Given the description of an element on the screen output the (x, y) to click on. 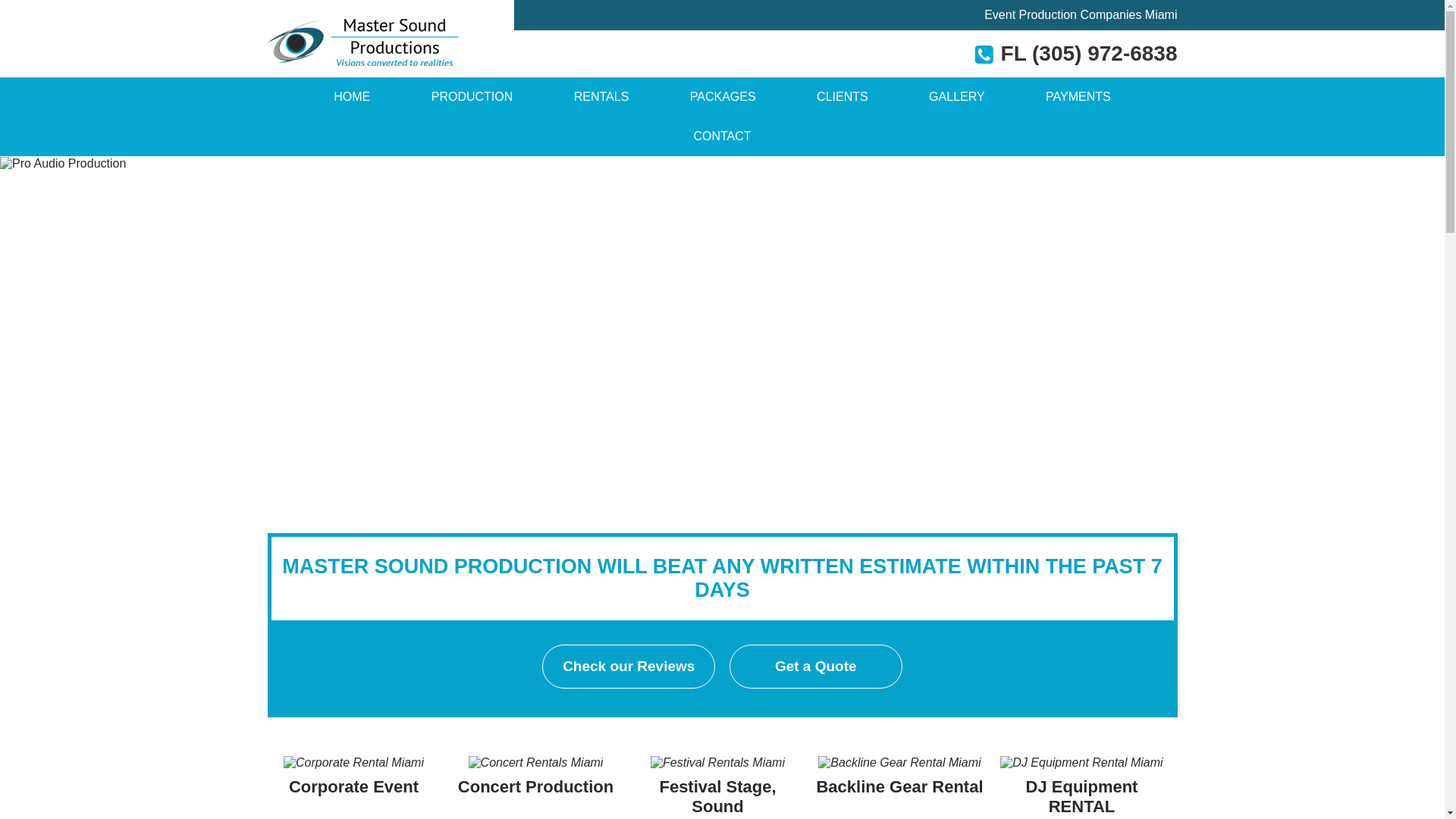
CLIENTS (841, 96)
Get a Quote (815, 666)
CONTACT (720, 136)
PRODUCTION (472, 96)
Check our Reviews (627, 666)
Master Sound Productions (351, 96)
HOME (351, 96)
PAYMENTS (1078, 96)
RENTALS (601, 96)
GALLERY (956, 96)
PACKAGES (722, 96)
Production (472, 96)
